Given the description of an element on the screen output the (x, y) to click on. 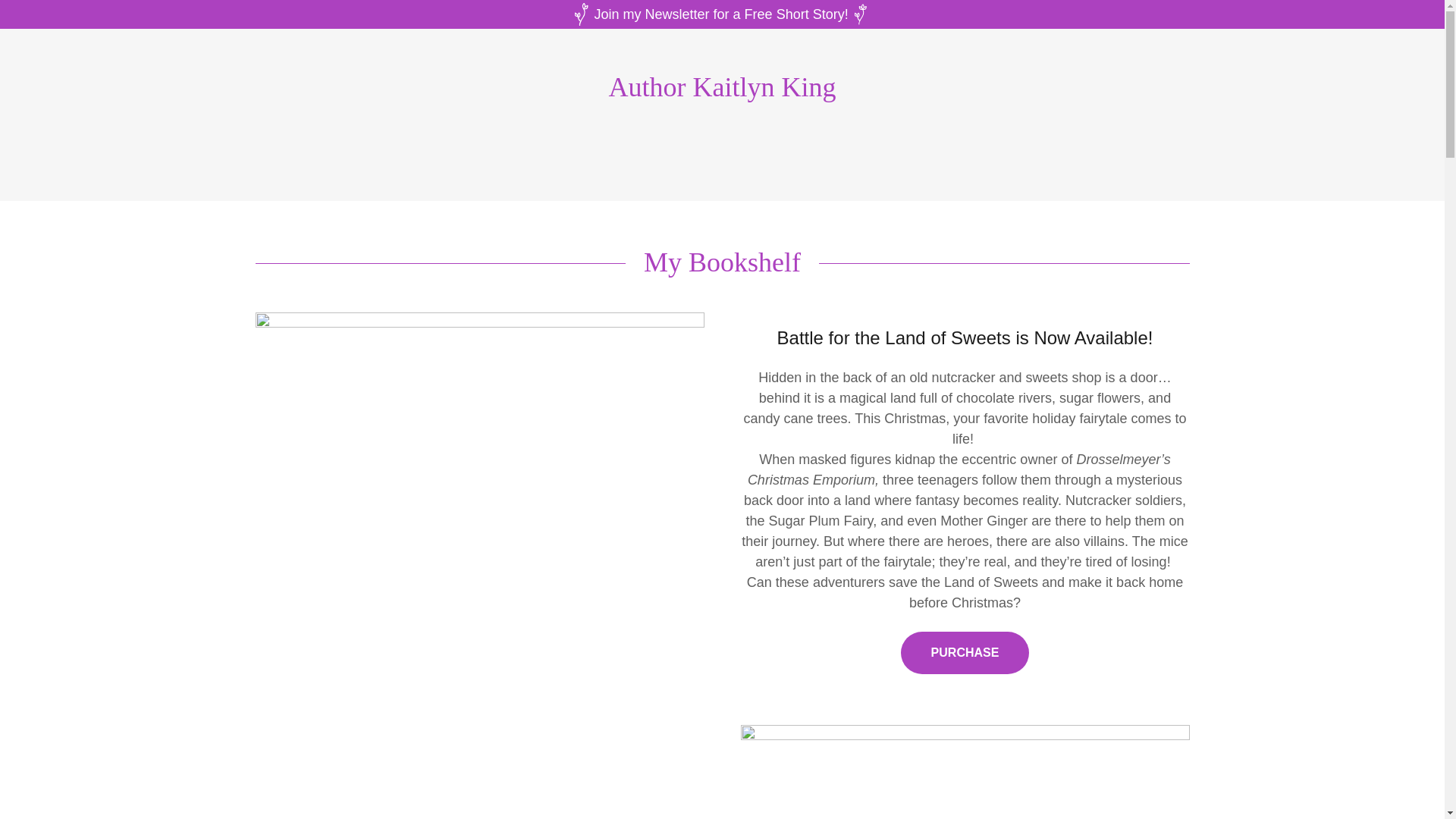
PURCHASE (965, 652)
Author Kaitlyn King (721, 91)
Author Kaitlyn King (721, 91)
